Given the description of an element on the screen output the (x, y) to click on. 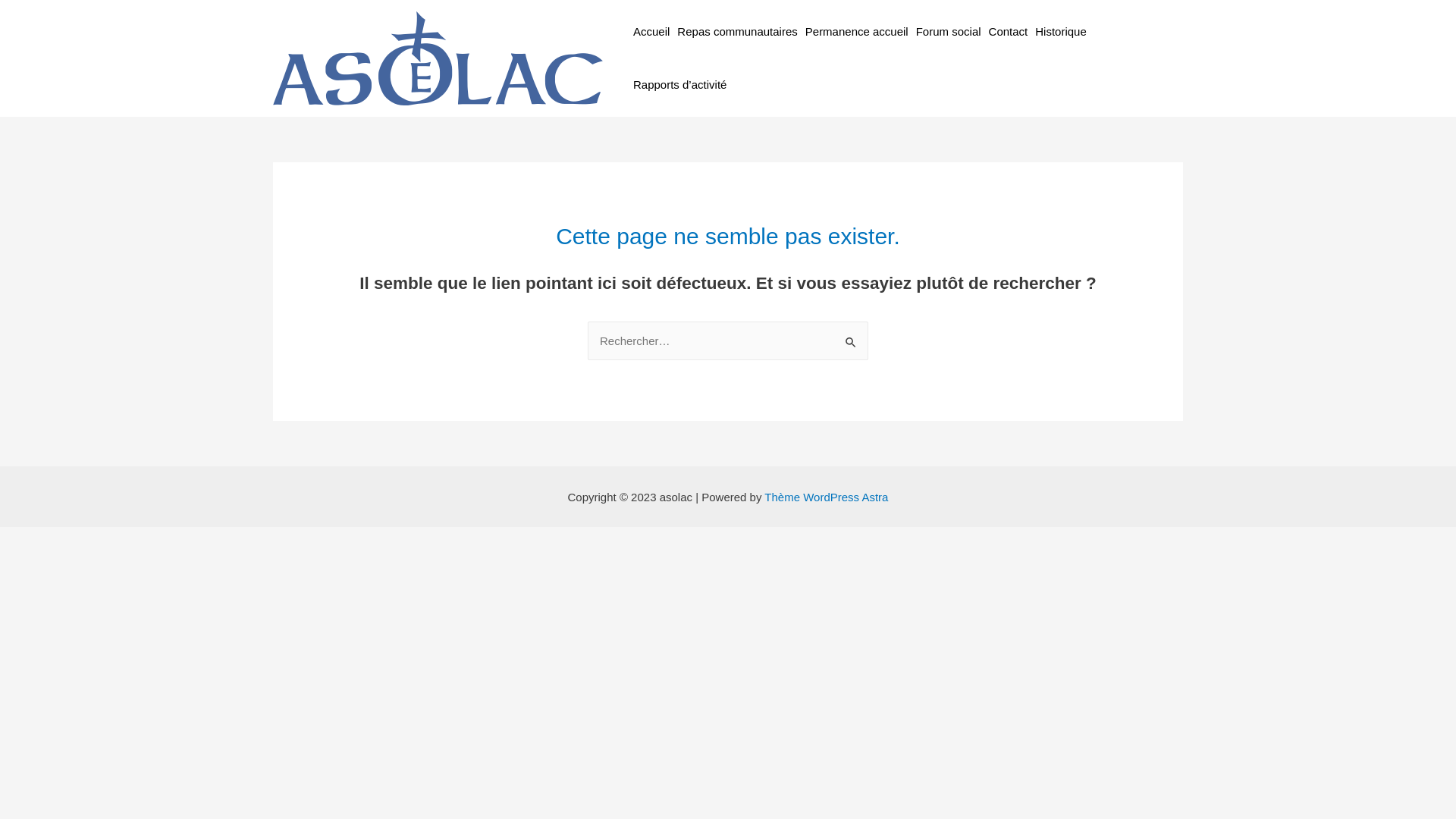
Contact Element type: text (1008, 31)
Permanence accueil Element type: text (856, 31)
Forum social Element type: text (948, 31)
Historique Element type: text (1060, 31)
Accueil Element type: text (651, 31)
Search Element type: text (851, 336)
Repas communautaires Element type: text (736, 31)
